Given the description of an element on the screen output the (x, y) to click on. 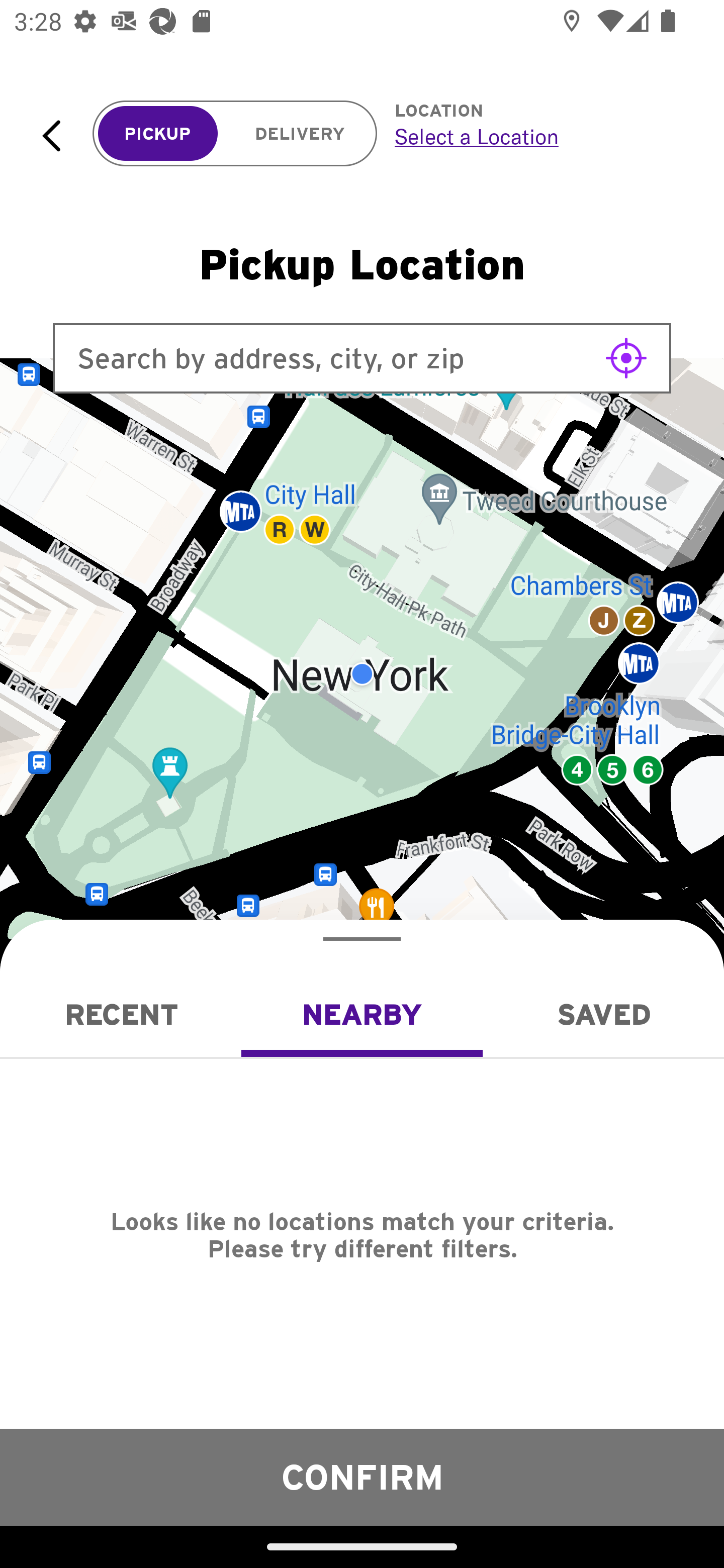
PICKUP (157, 133)
DELIVERY (299, 133)
Select a Location (536, 136)
Search by address, city, or zip (361, 358)
Google Map (362, 674)
Recent RECENT (120, 1014)
Saved SAVED (603, 1014)
CONFIRM (362, 1476)
